Given the description of an element on the screen output the (x, y) to click on. 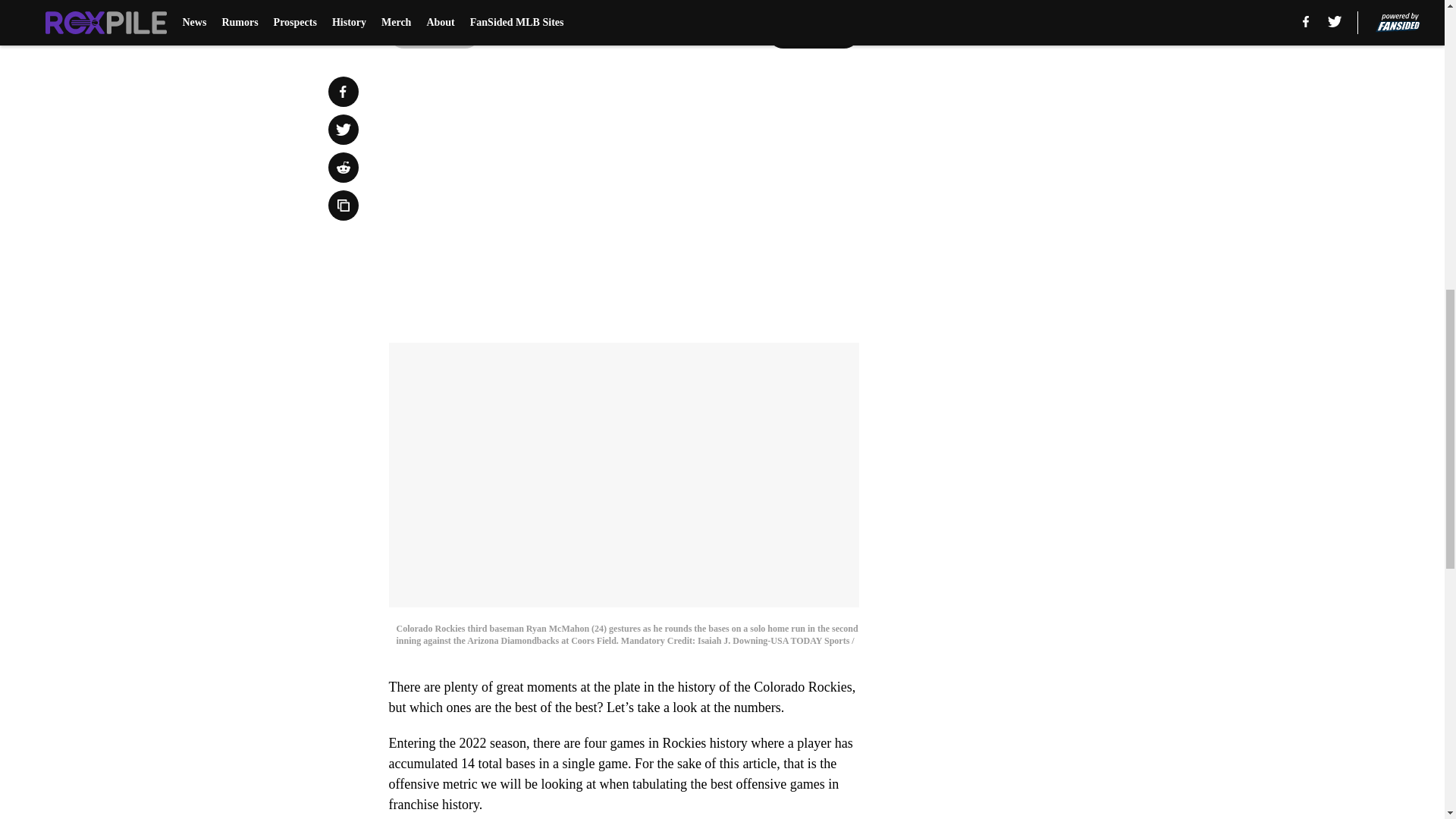
Next (813, 33)
Prev (433, 33)
